Given the description of an element on the screen output the (x, y) to click on. 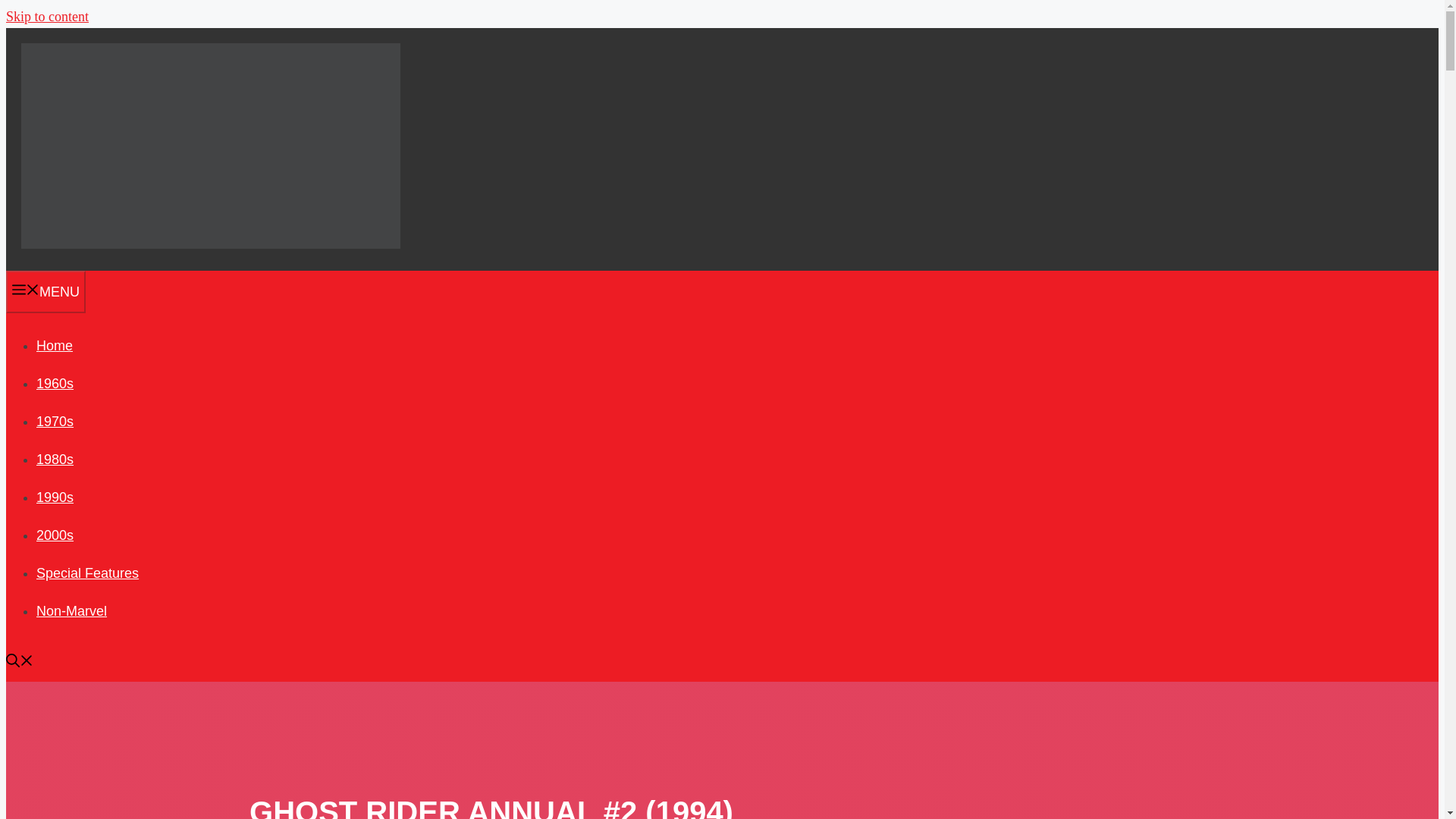
2000s (55, 534)
Skip to content (46, 16)
Non-Marvel (71, 611)
Home (54, 345)
1980s (55, 459)
1990s (55, 497)
Skip to content (46, 16)
1970s (55, 421)
Special Features (87, 572)
MENU (45, 291)
1960s (55, 383)
